Given the description of an element on the screen output the (x, y) to click on. 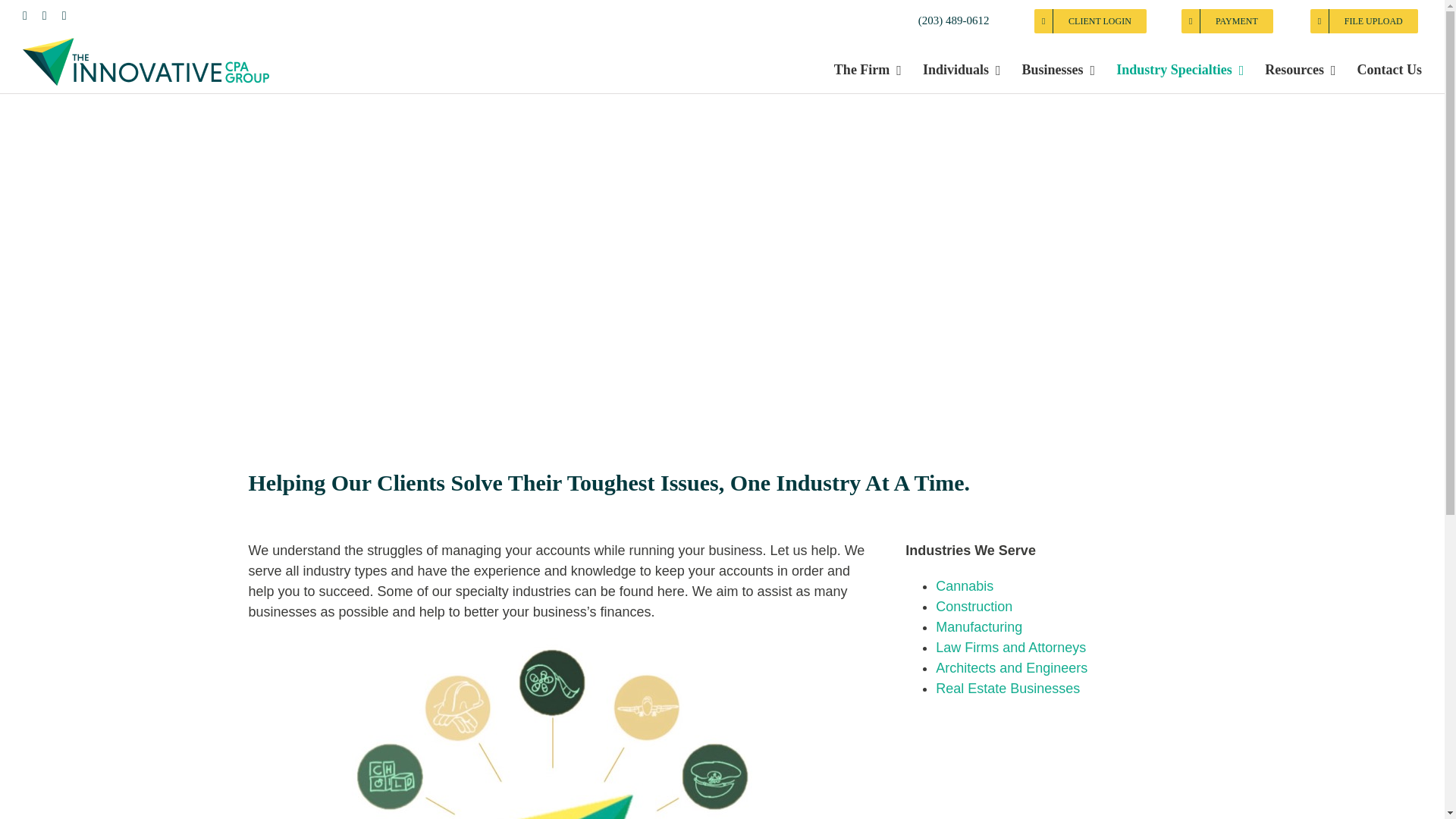
PAYMENT (1226, 21)
Screen Shot 2020-07-23 at 12.23.27 PM (557, 728)
CLIENT LOGIN (1090, 21)
FILE UPLOAD (1364, 21)
Individuals (962, 69)
Businesses (1059, 69)
The Firm (867, 69)
